Given the description of an element on the screen output the (x, y) to click on. 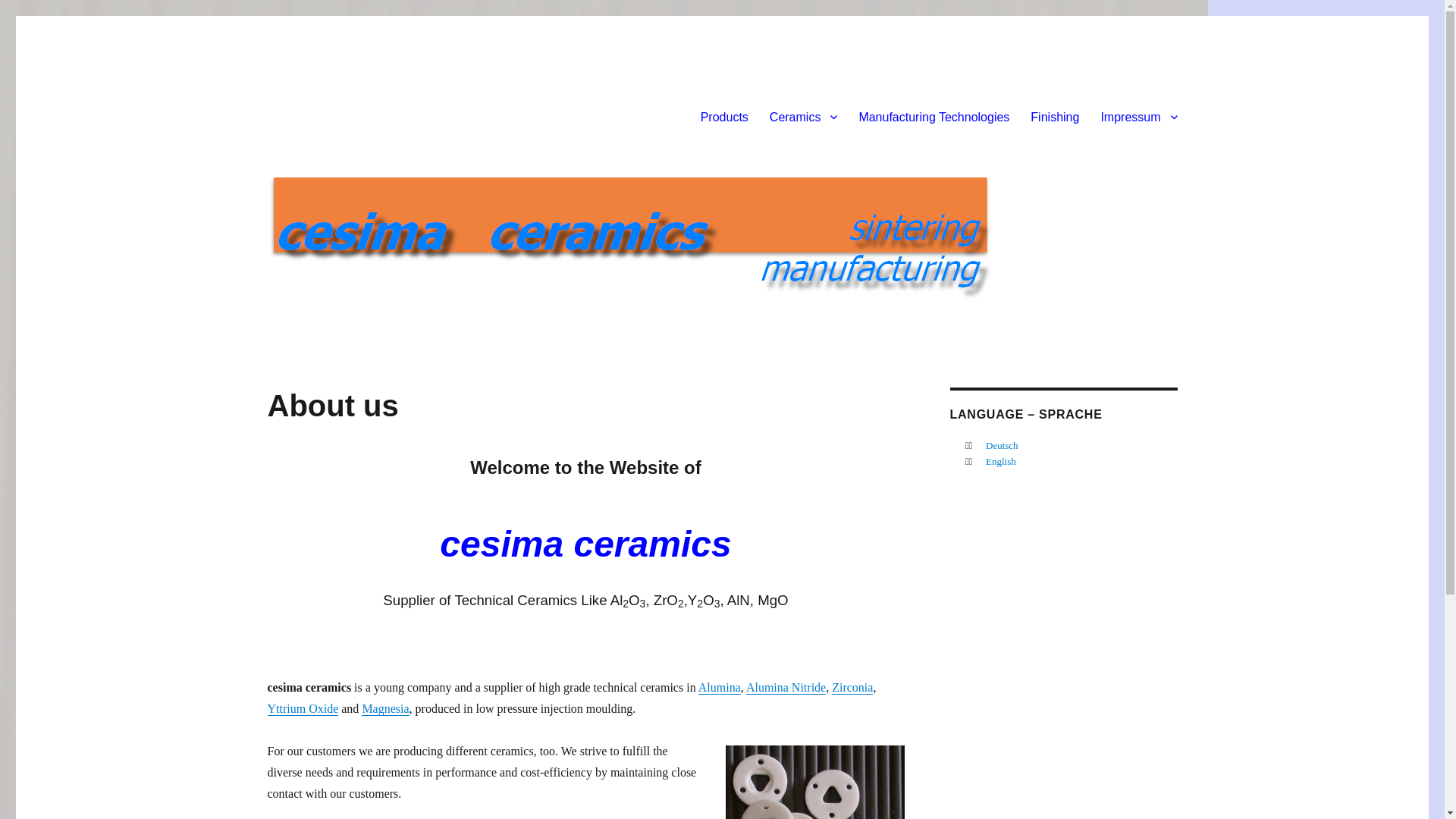
German (1001, 445)
Zirconia (851, 686)
Finishing (1054, 116)
Ceramics (803, 116)
cesima ceramics (351, 114)
Yttrium Oxide (301, 707)
English (1000, 460)
Alumina Nitride (785, 686)
Impressum (1138, 116)
Manufacturing Technologies (933, 116)
